Given the description of an element on the screen output the (x, y) to click on. 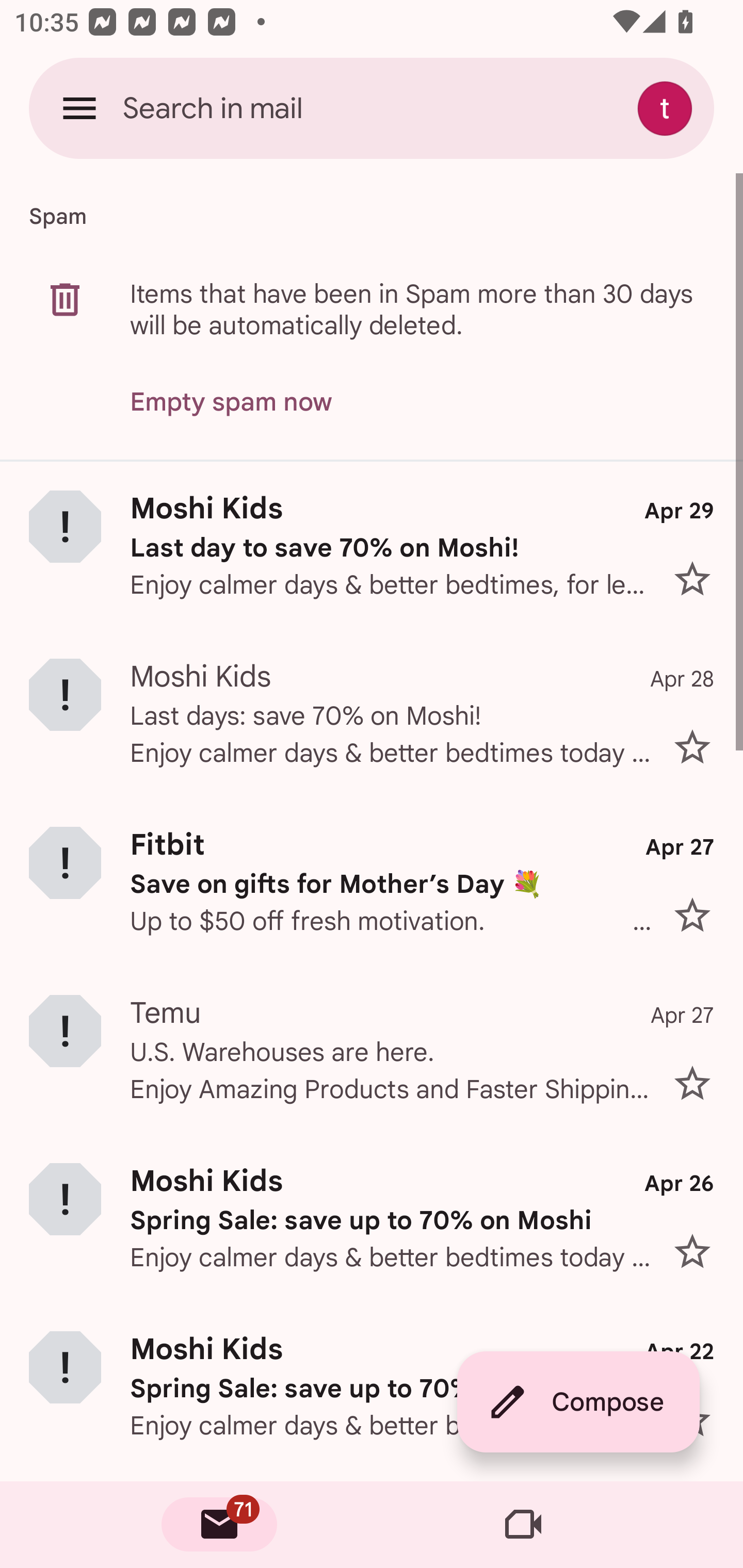
Open navigation drawer (79, 108)
Empty spam now (230, 402)
Compose (577, 1401)
Meet (523, 1524)
